Given the description of an element on the screen output the (x, y) to click on. 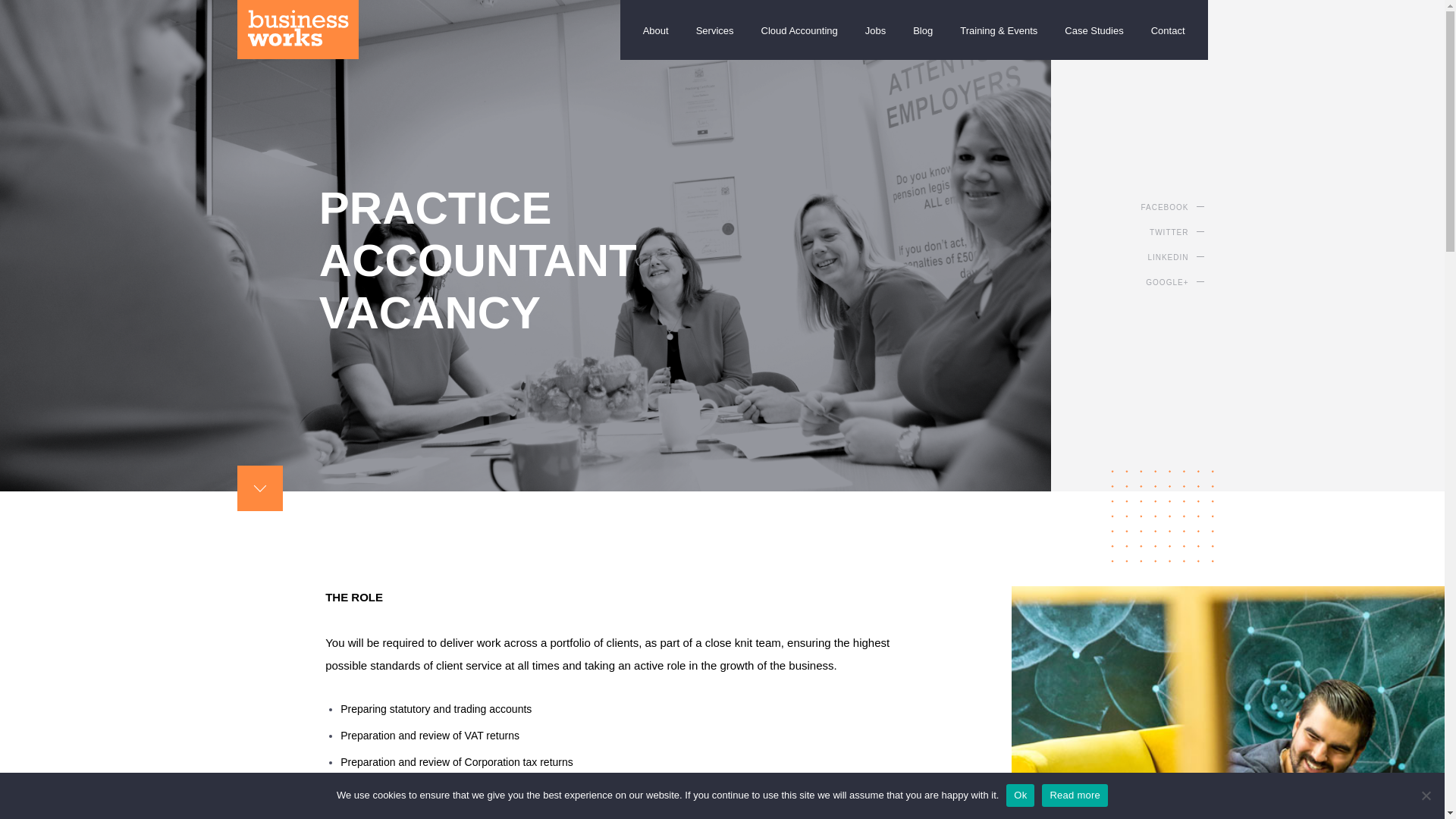
Contact (1168, 17)
LINKEDIN (1201, 257)
TWITTER (1196, 232)
FACEBOOK (1185, 207)
No (1425, 795)
